Given the description of an element on the screen output the (x, y) to click on. 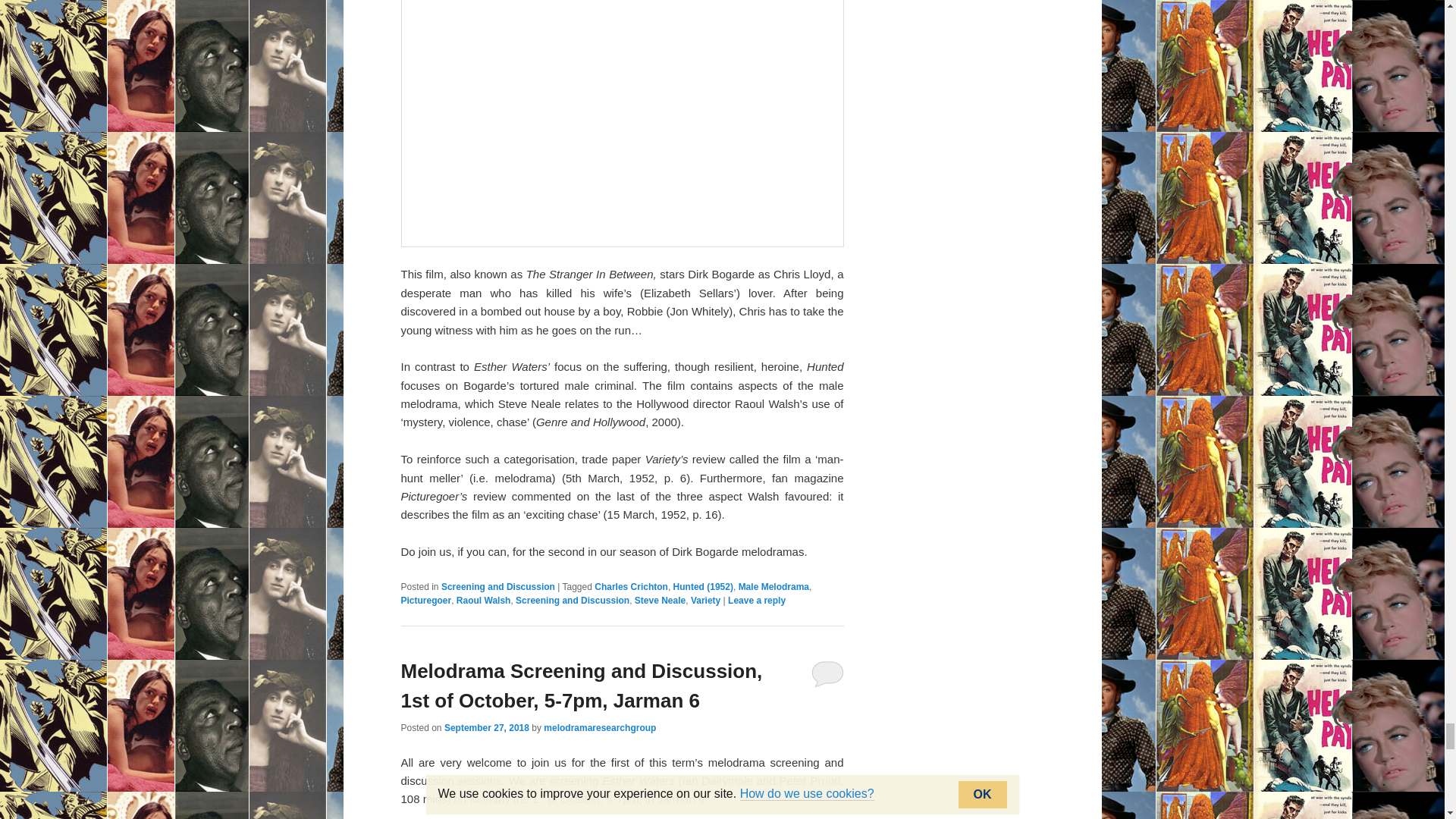
9:20 am (486, 727)
View all posts by melodramaresearchgroup (599, 727)
